Given the description of an element on the screen output the (x, y) to click on. 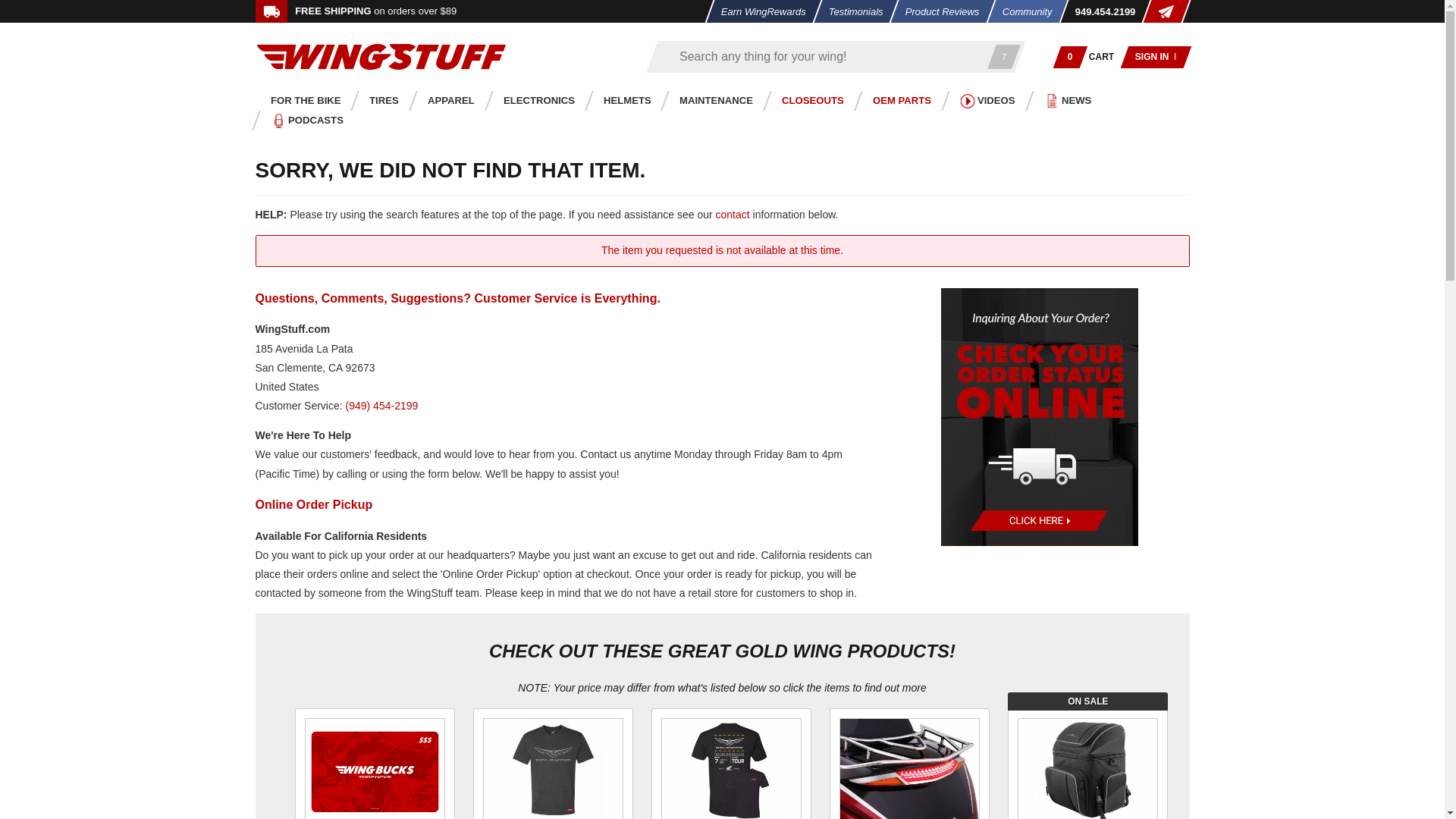
FOR THE BIKE (300, 100)
CART (1101, 56)
Community (1021, 11)
Testimonials (850, 11)
Earn WingRewards (758, 11)
Product Reviews (938, 11)
949.454.2199 (1099, 11)
WingStuff (380, 55)
